Given the description of an element on the screen output the (x, y) to click on. 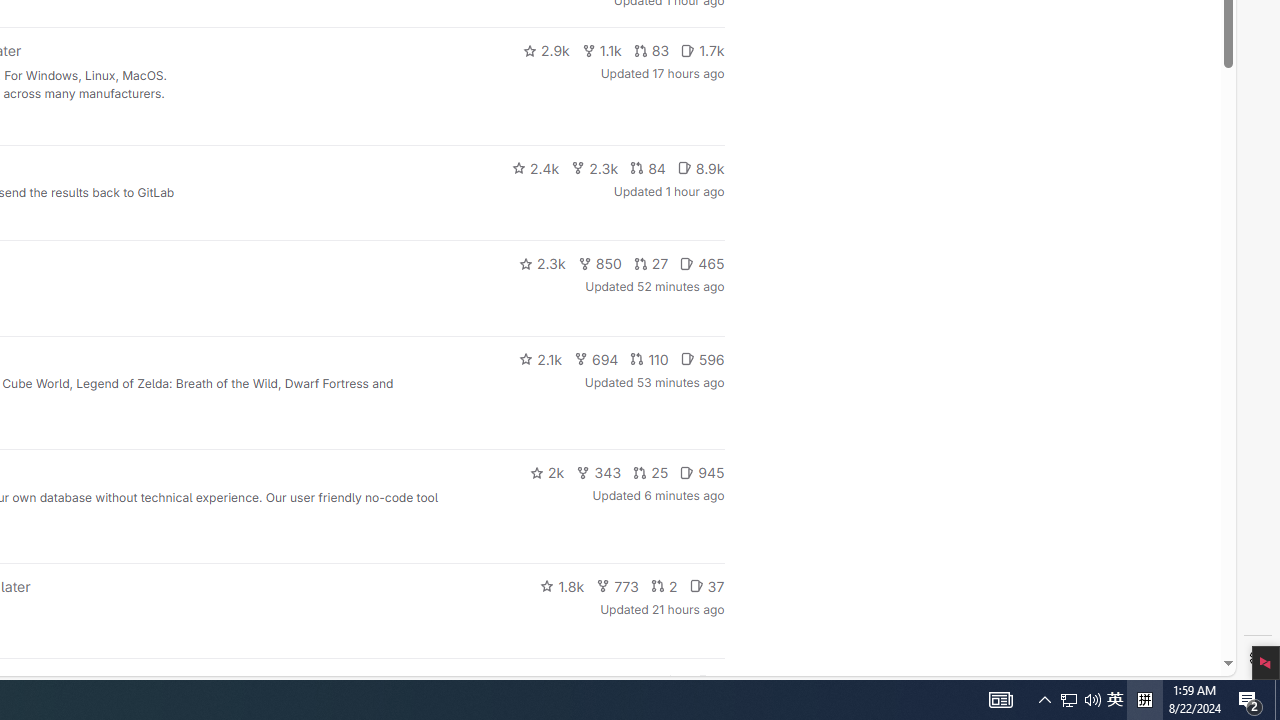
1.8k (562, 585)
945 (701, 472)
1.1k (601, 50)
143 (629, 681)
2k (546, 472)
25 (651, 472)
2.3k (541, 263)
